Given the description of an element on the screen output the (x, y) to click on. 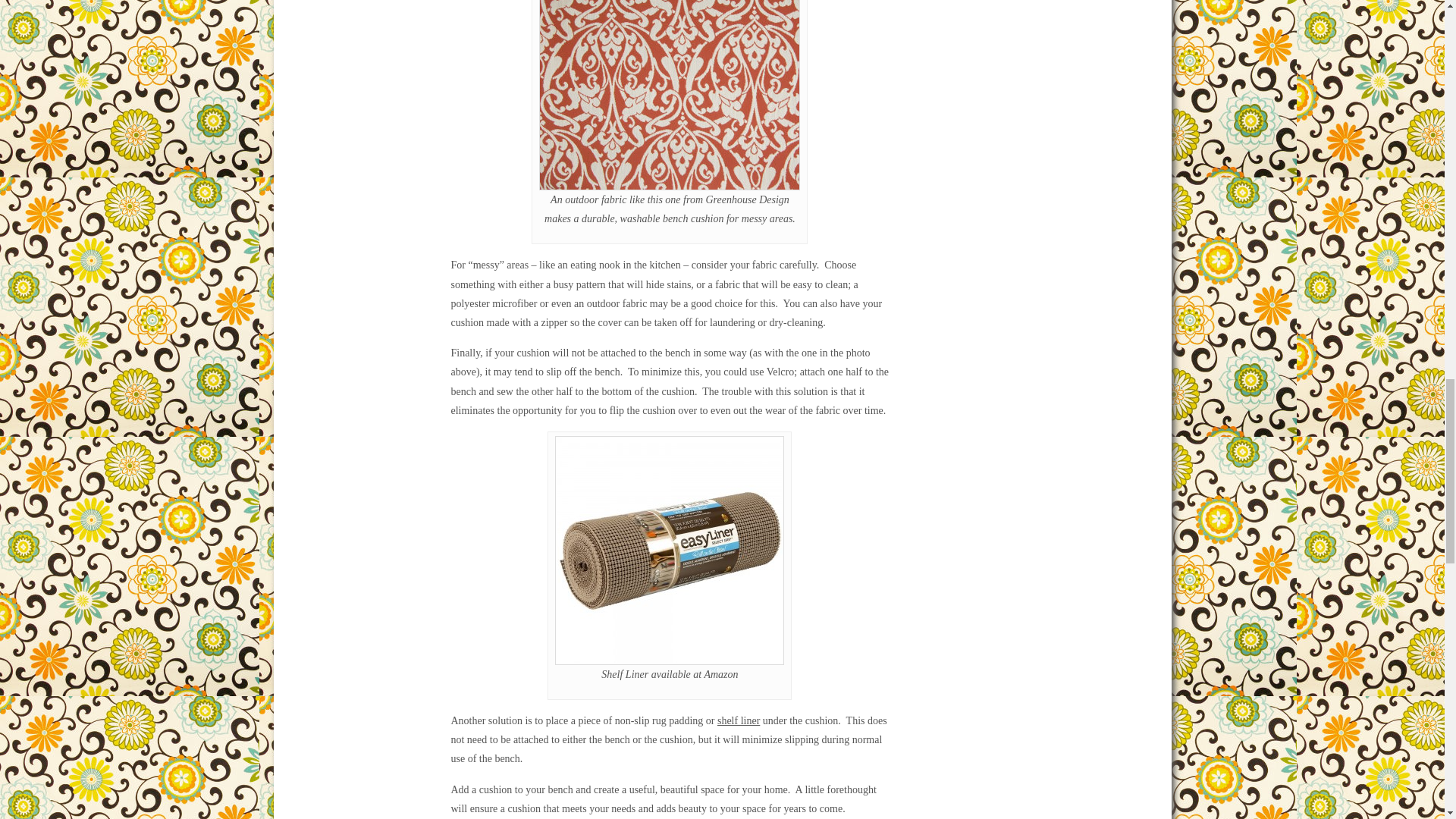
shelf liner (738, 720)
Amazon Shelf liner (669, 550)
Greenhouse Outdoor Fabric (668, 95)
